Given the description of an element on the screen output the (x, y) to click on. 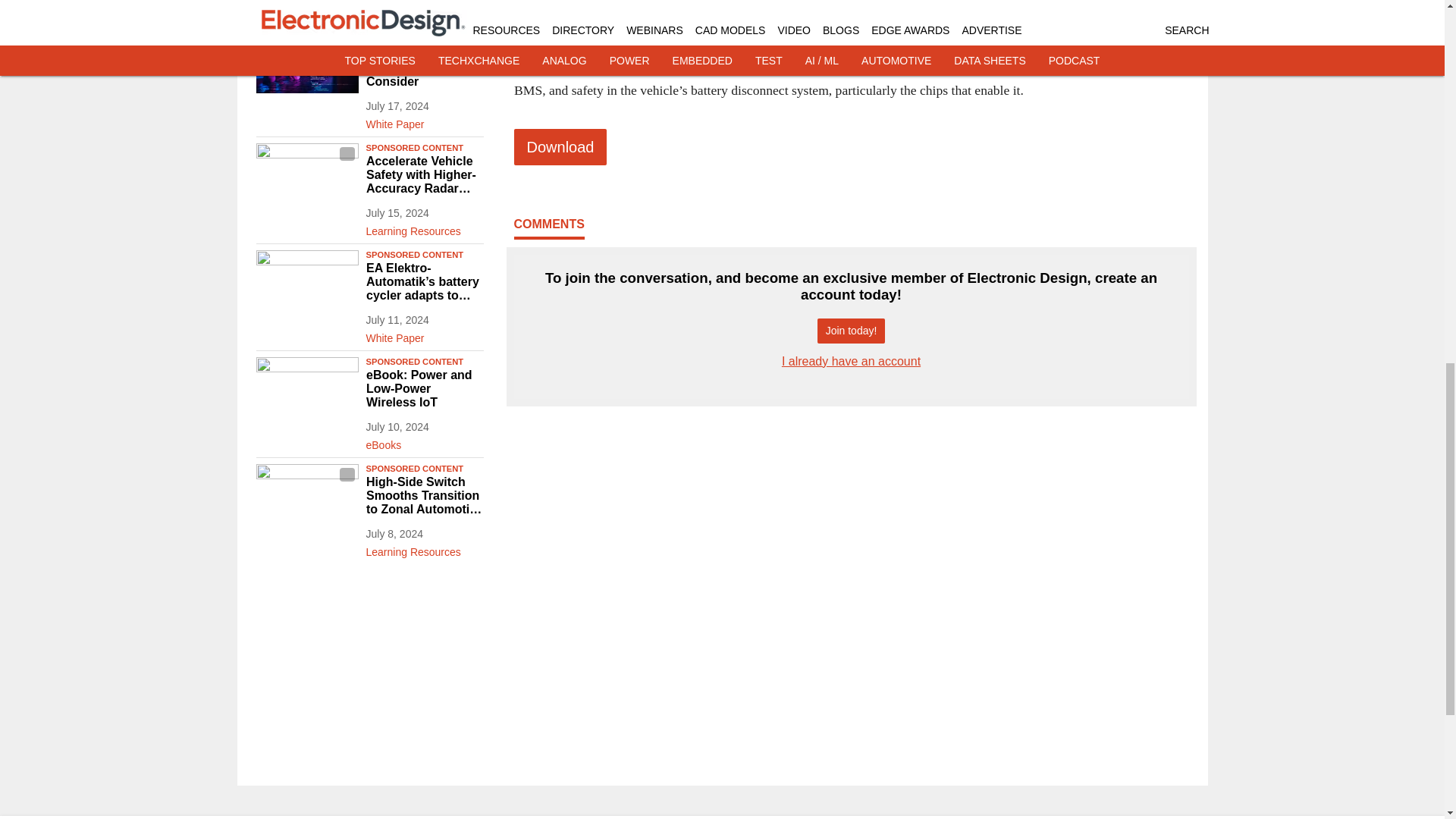
White Paper (424, 334)
The Right OS For You: 10 Things to Consider (424, 67)
Learning Resources (424, 228)
White Paper (424, 121)
Accelerate Vehicle Safety with Higher-Accuracy Radar Systems (424, 174)
White Paper (424, 13)
